Given the description of an element on the screen output the (x, y) to click on. 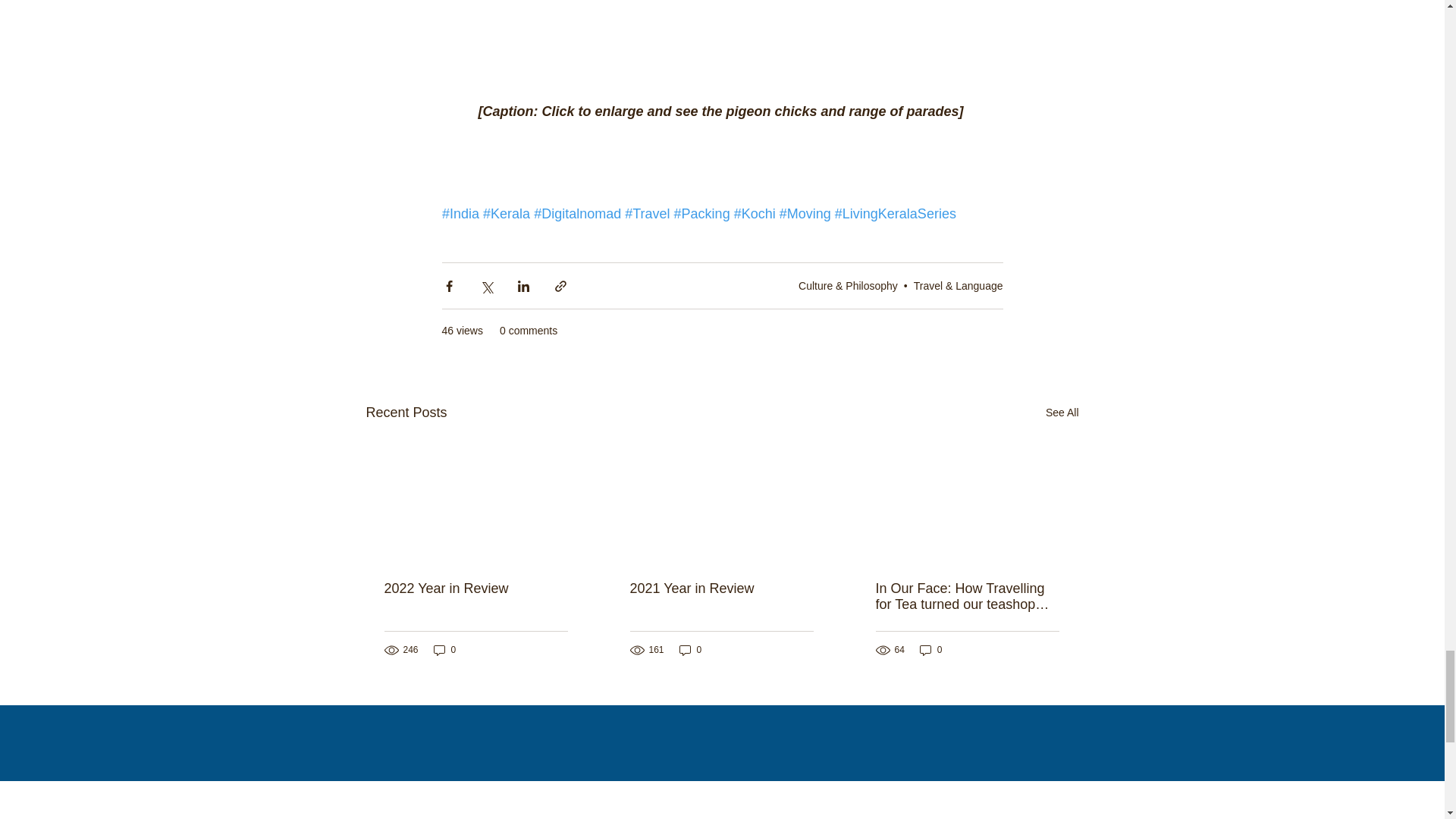
2022 Year in Review (475, 588)
0 (445, 649)
See All (1061, 413)
